Given the description of an element on the screen output the (x, y) to click on. 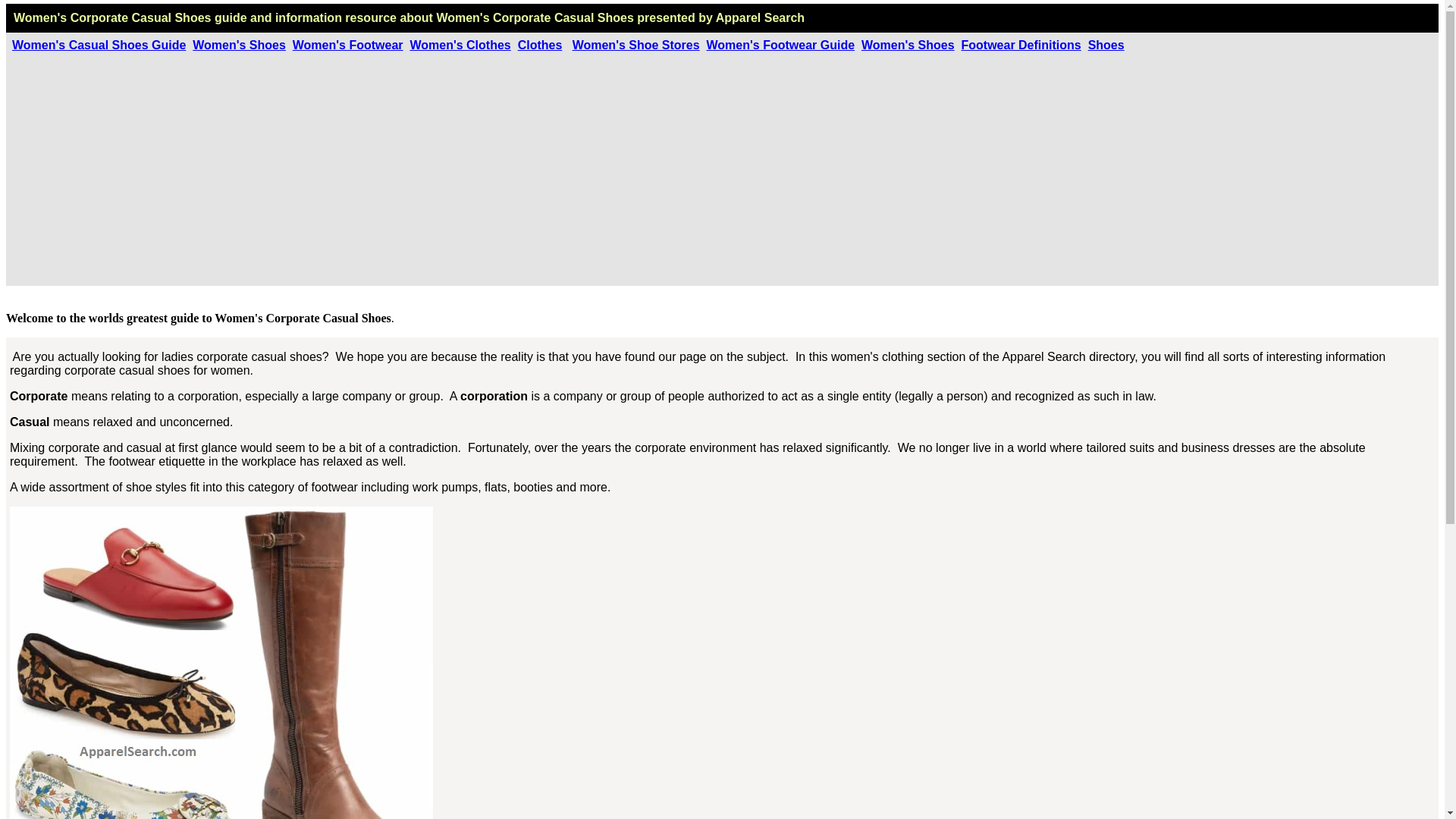
Women's Clothes (460, 44)
Women's Shoe Stores (636, 44)
Women's Footwear Guide (781, 44)
Women's Shoes (238, 44)
Clothes (540, 44)
Shoes (1105, 44)
Women's Footwear (347, 44)
Footwear Definitions (1020, 44)
Women's Casual Shoes Guide (98, 44)
Apparel Search (760, 17)
Women's Shoes (908, 44)
